Given the description of an element on the screen output the (x, y) to click on. 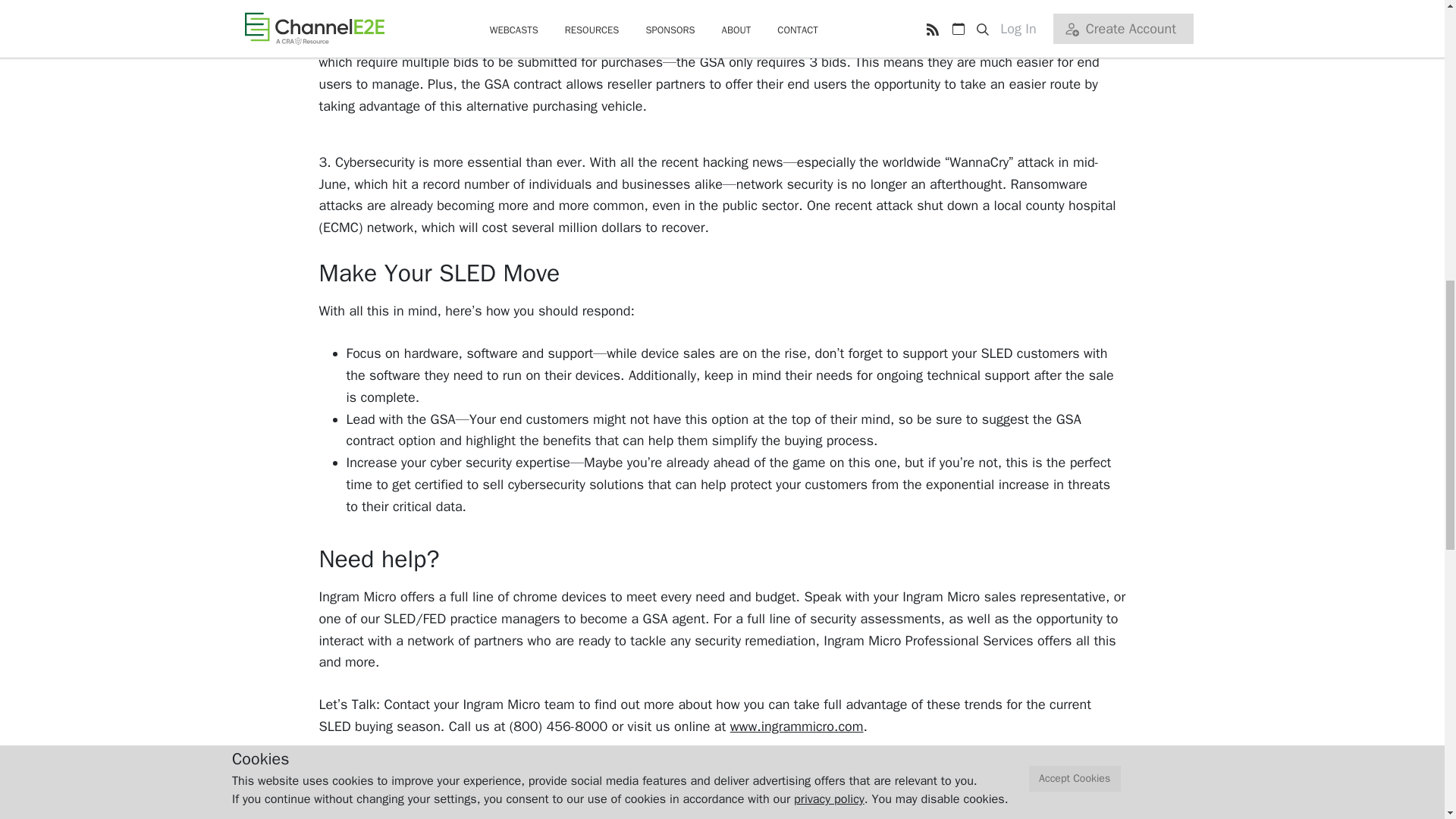
Sponsored by Ingram Micro (457, 816)
here (703, 768)
www.ingrammicro.com (796, 726)
